Given the description of an element on the screen output the (x, y) to click on. 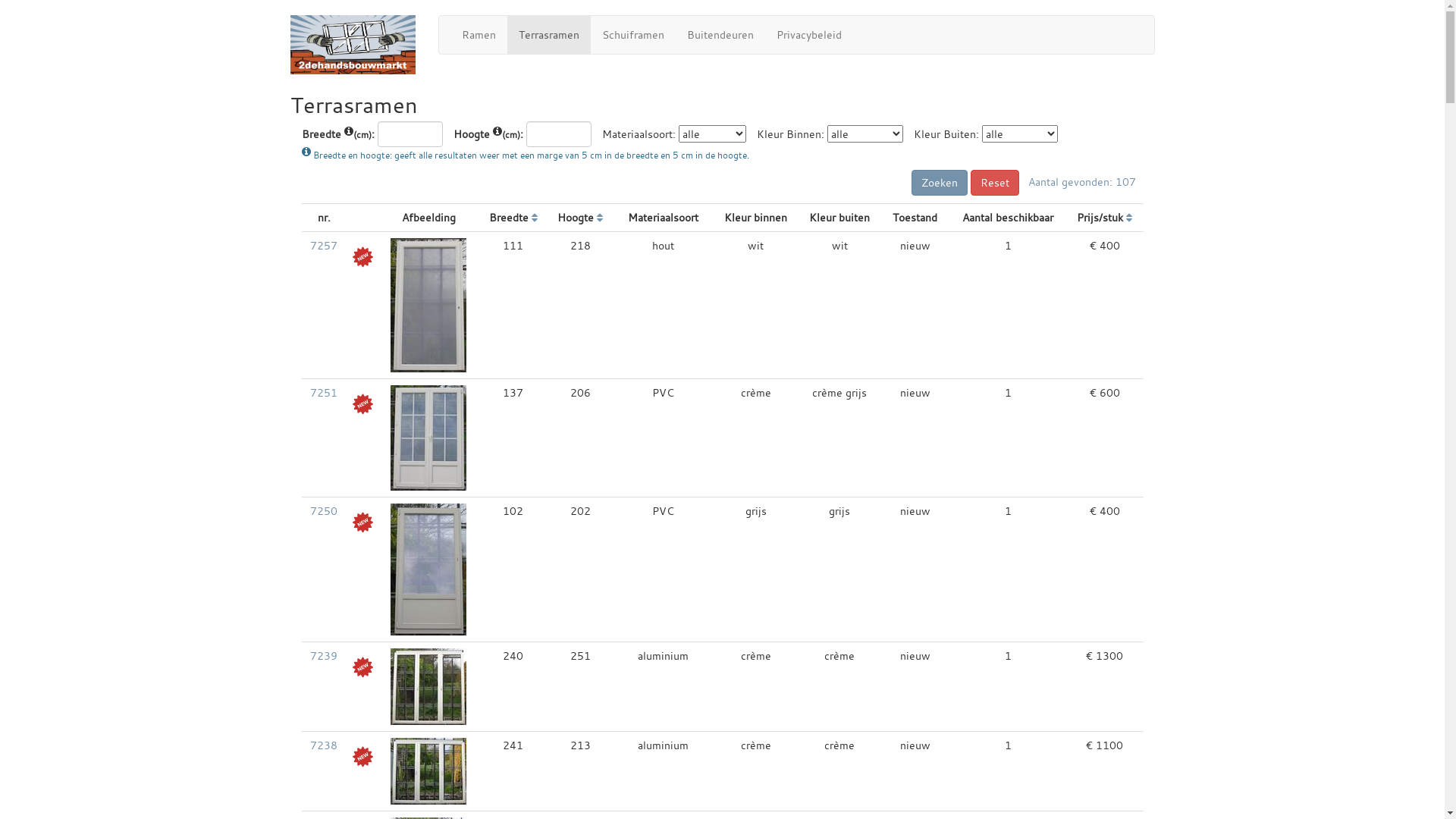
7238 Element type: text (323, 744)
Buitendeuren Element type: text (719, 34)
Recent toegevoegd Element type: hover (362, 521)
Recent toegevoegd Element type: hover (362, 756)
7257 Element type: text (323, 245)
Recent toegevoegd Element type: hover (362, 256)
Ramen Element type: text (478, 34)
Schuiframen Element type: text (631, 34)
Zoeken Element type: text (939, 182)
Recent toegevoegd Element type: hover (362, 403)
7251 Element type: text (323, 392)
Privacybeleid Element type: text (808, 34)
7250 Element type: text (323, 510)
Recent toegevoegd Element type: hover (362, 666)
7239 Element type: text (323, 655)
Terrasramen Element type: text (547, 34)
Reset Element type: text (994, 182)
